Given the description of an element on the screen output the (x, y) to click on. 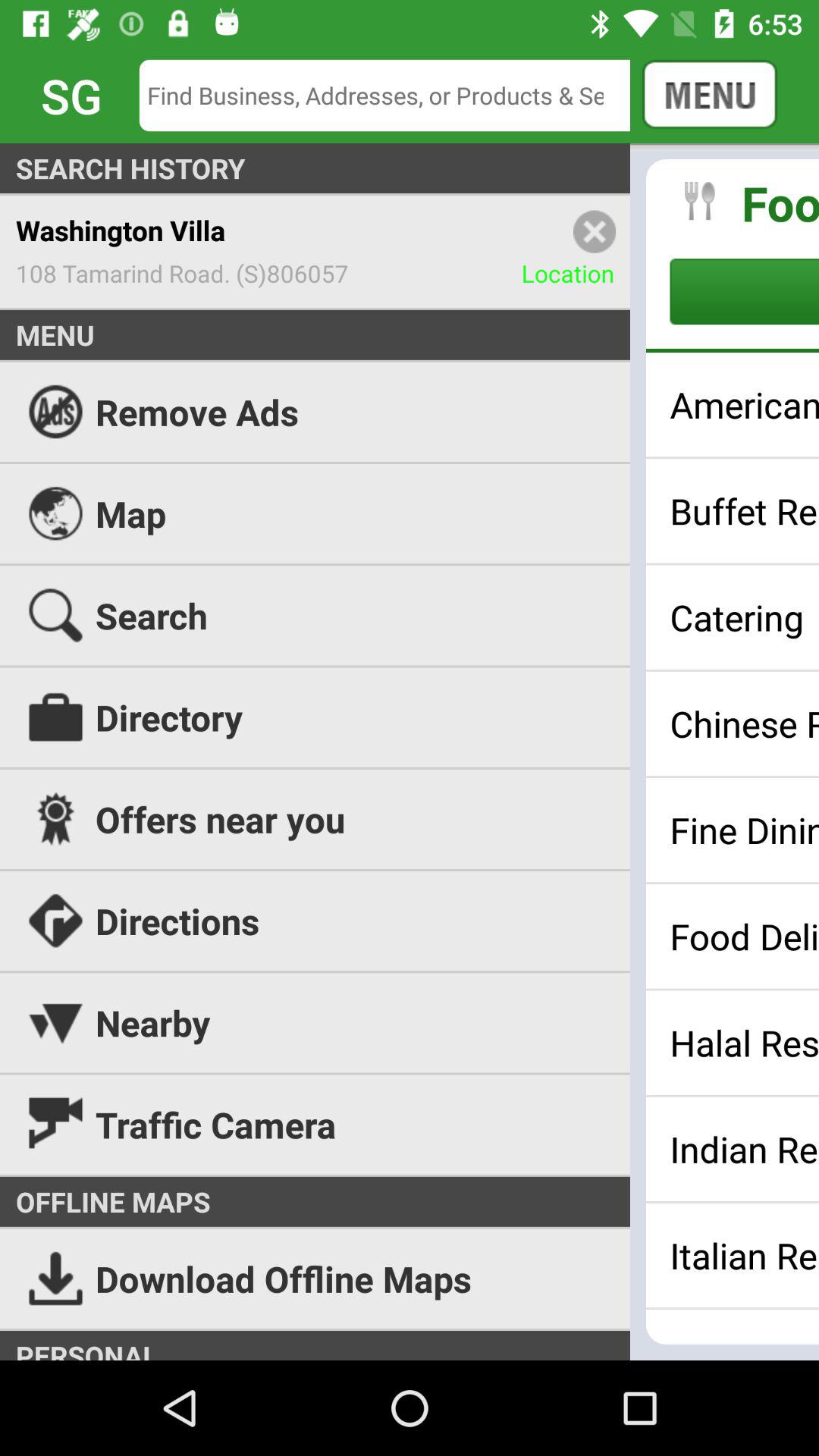
launch the icon next to the cancel icon (395, 95)
